Given the description of an element on the screen output the (x, y) to click on. 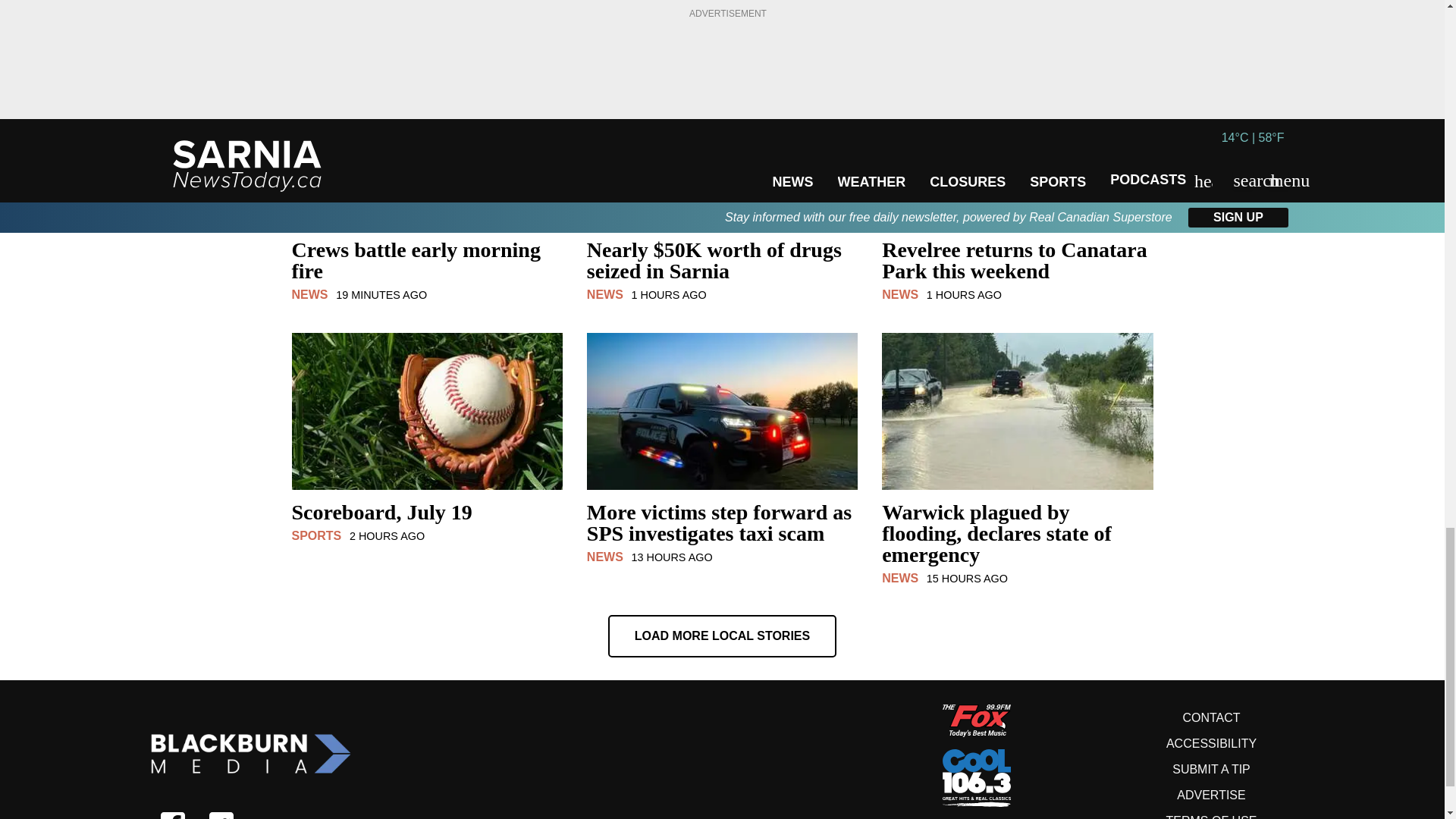
Crews battle early morning fire (426, 270)
